Given the description of an element on the screen output the (x, y) to click on. 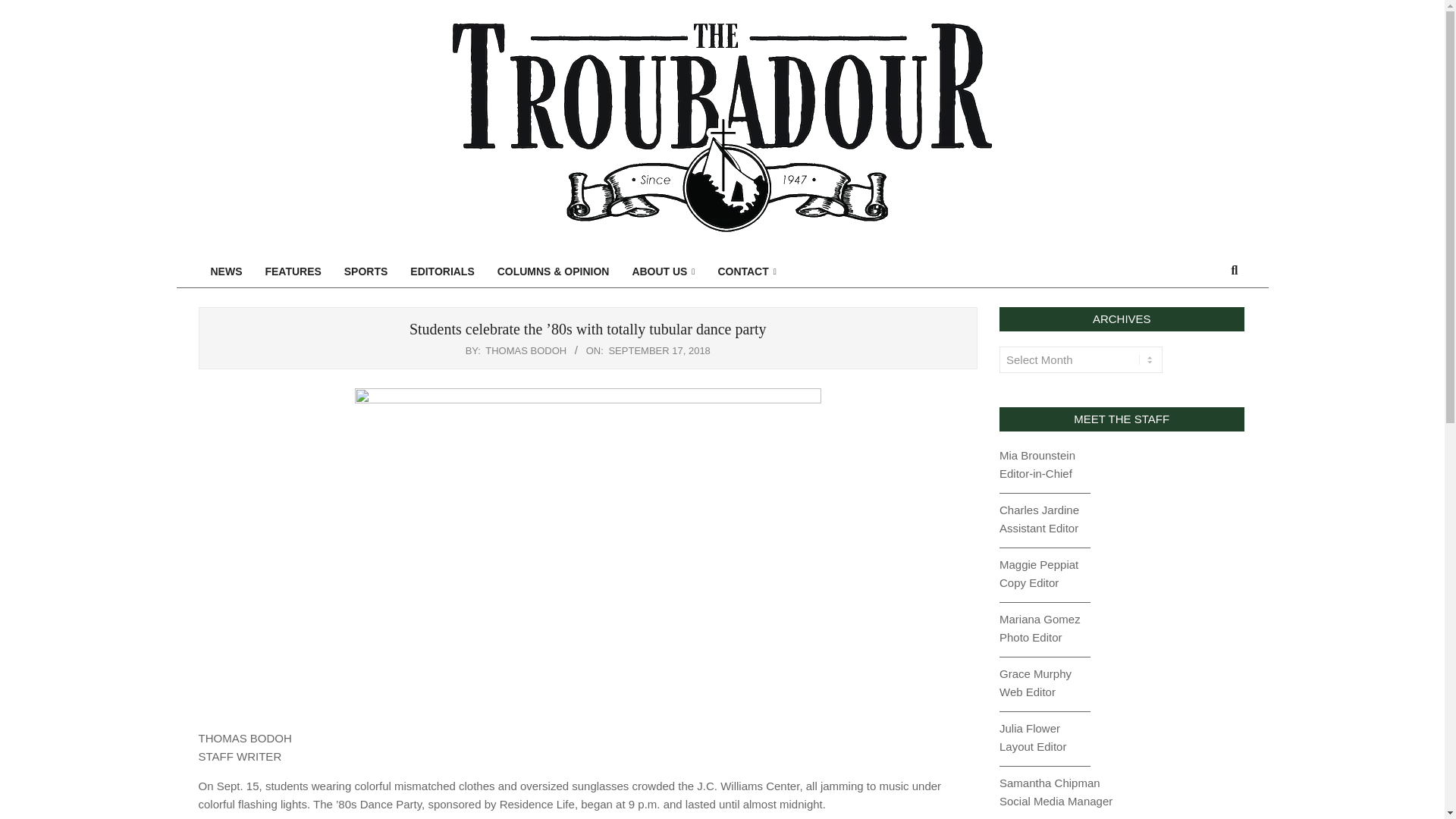
ABOUT US (663, 271)
Posts by Thomas Bodoh (525, 350)
NEWS (225, 271)
THOMAS BODOH (525, 350)
Search (21, 8)
EDITORIALS (441, 271)
SPORTS (365, 271)
CONTACT (746, 271)
FEATURES (292, 271)
Monday, September 17, 2018, 2:30 pm (659, 350)
